Given the description of an element on the screen output the (x, y) to click on. 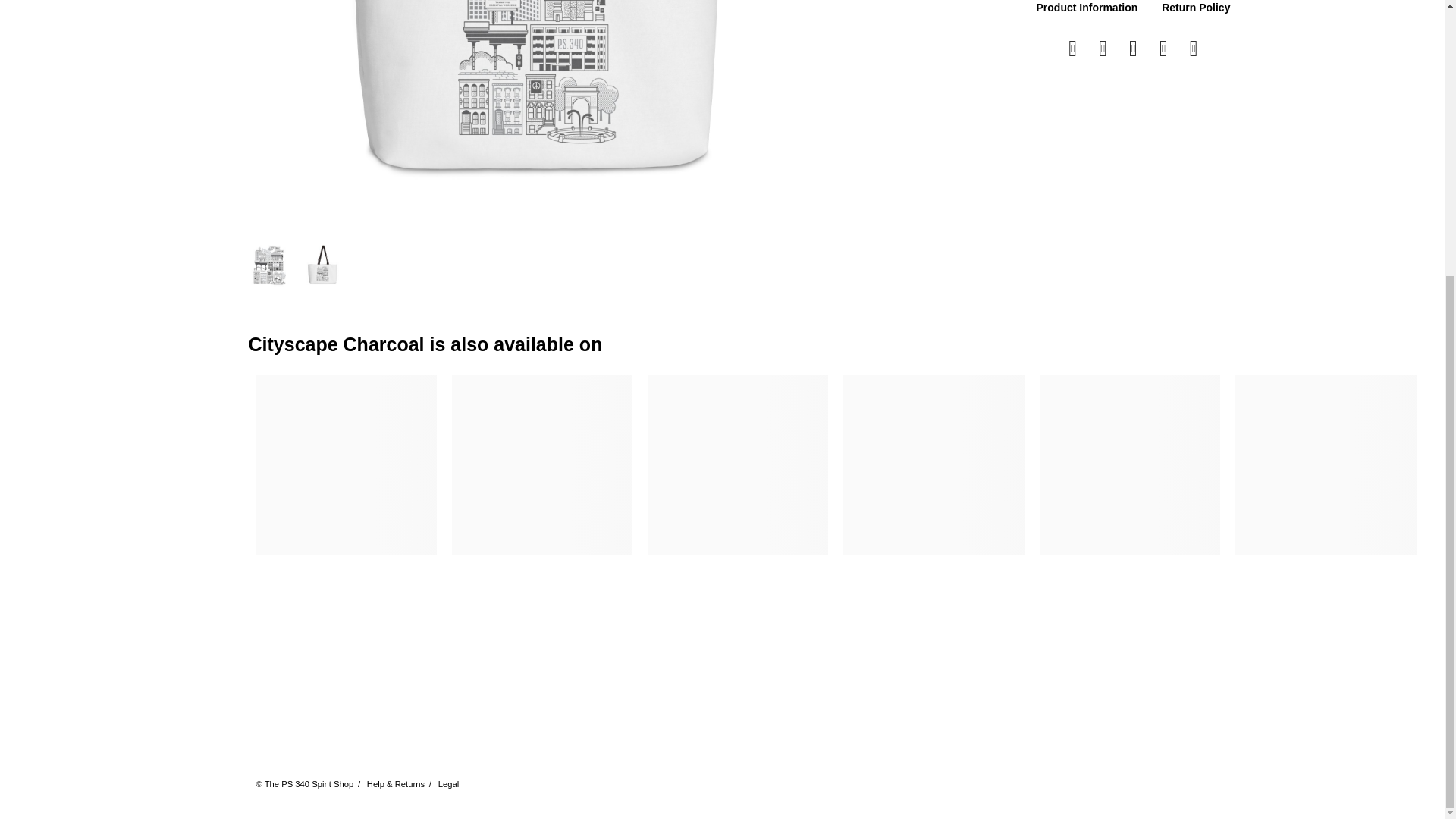
Product Information (1087, 7)
Give the gift of unlimited choice (113, 104)
Legal (449, 783)
GIFT CARDS (113, 104)
Search The PS 340 Spirit Shop (113, 59)
ACCESSORIES (113, 18)
Shop Accessories (113, 18)
Return Policy (1195, 7)
SEARCH (113, 59)
